Given the description of an element on the screen output the (x, y) to click on. 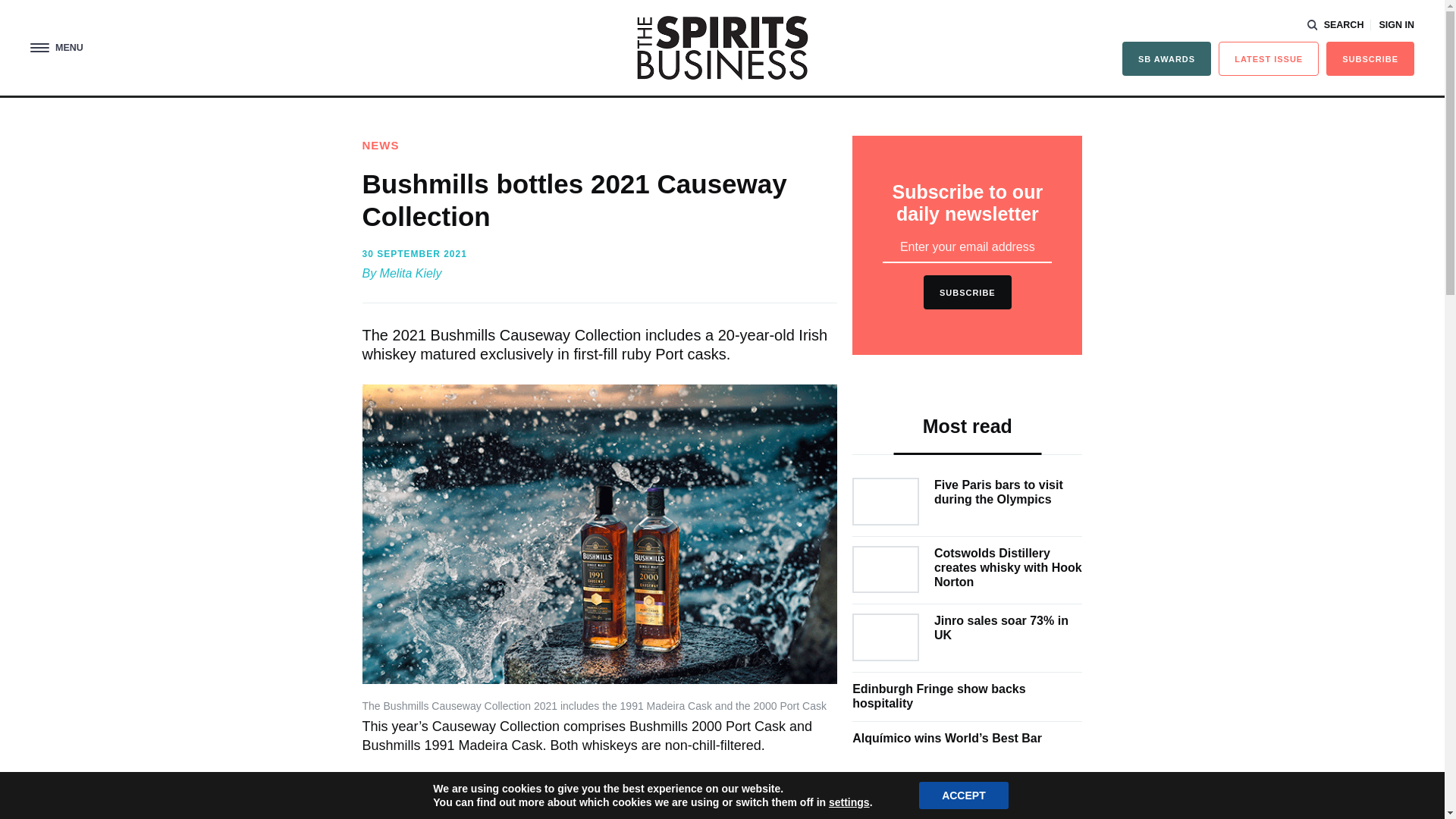
SIGN IN (1395, 25)
SUBSCRIBE (1369, 58)
LATEST ISSUE (1268, 58)
SB AWARDS (1166, 58)
The Spirits Business (722, 47)
